Given the description of an element on the screen output the (x, y) to click on. 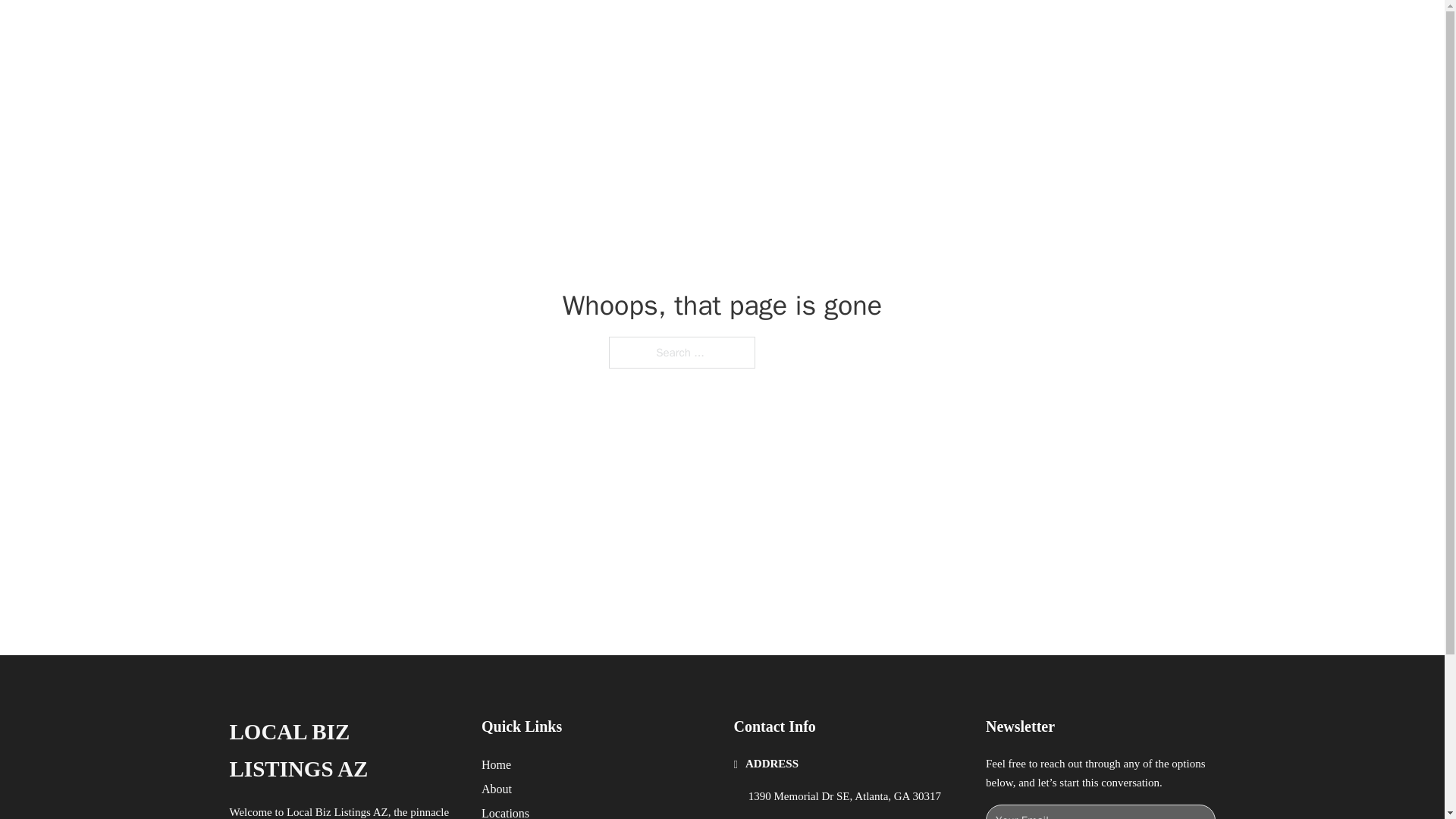
LOCAL BIZ LISTINGS AZ (343, 750)
LOCATIONS (990, 29)
About (496, 788)
Home (496, 764)
HOME (919, 29)
Locations (505, 811)
